Given the description of an element on the screen output the (x, y) to click on. 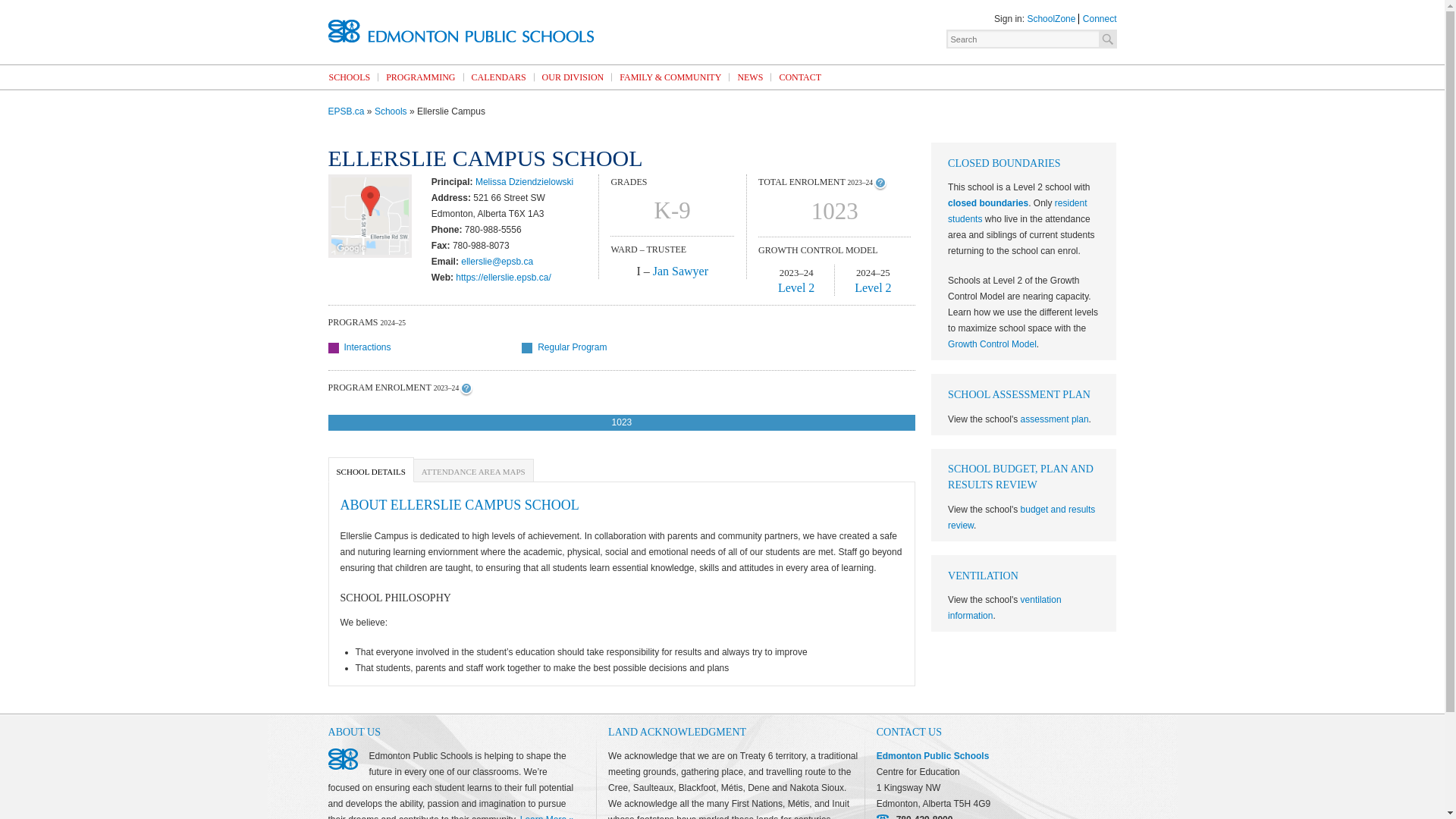
SCHOOLS (348, 78)
SCHOOL DETAILS (370, 469)
resident students (621, 423)
ventilation information (1016, 211)
Schools (1004, 607)
CALENDARS (390, 111)
Edmonton Public Schools Homepage (499, 78)
Level 2 (459, 30)
EPSB.ca (795, 287)
Growth Control Model (345, 111)
Interactions (991, 344)
assessment plan (425, 347)
Jan Sawyer (1054, 419)
OUR DIVISION (679, 270)
